Given the description of an element on the screen output the (x, y) to click on. 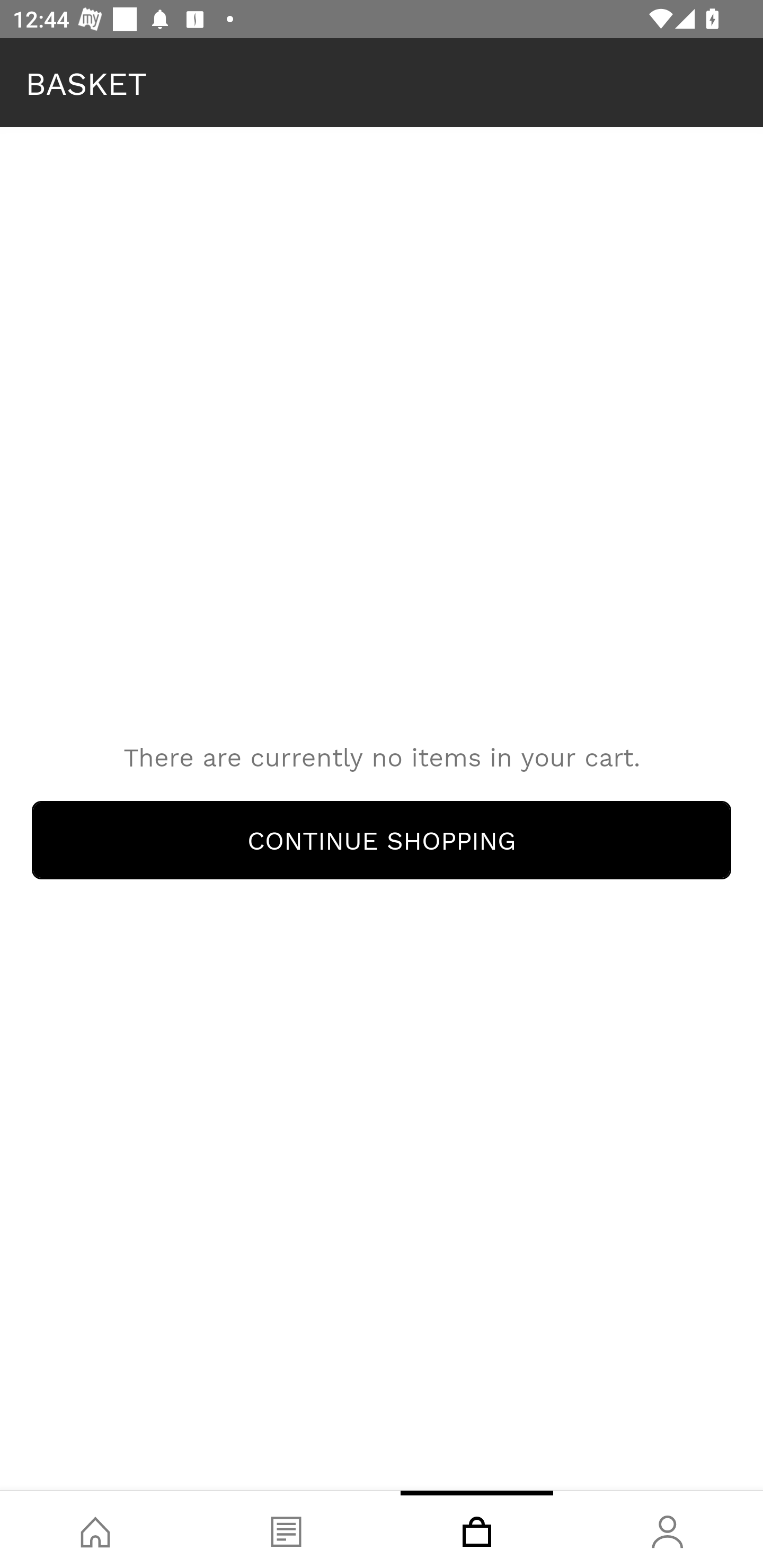
Continue Shopping CONTINUE SHOPPING (381, 840)
Shop, tab, 1 of 4 (95, 1529)
Blog, tab, 2 of 4 (285, 1529)
Basket, tab, 3 of 4 (476, 1529)
Account, tab, 4 of 4 (667, 1529)
